Given the description of an element on the screen output the (x, y) to click on. 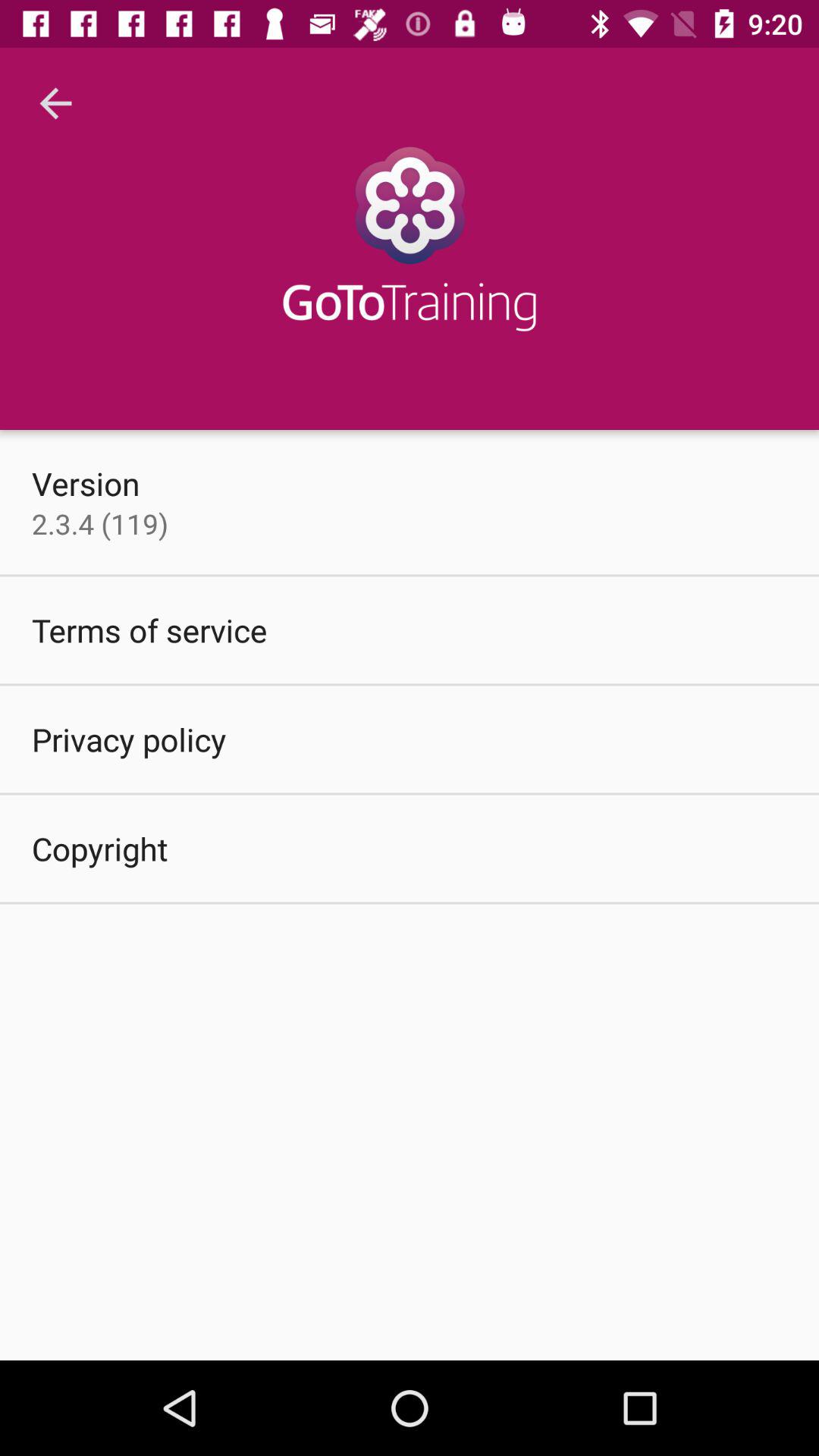
press the icon above version item (55, 103)
